Given the description of an element on the screen output the (x, y) to click on. 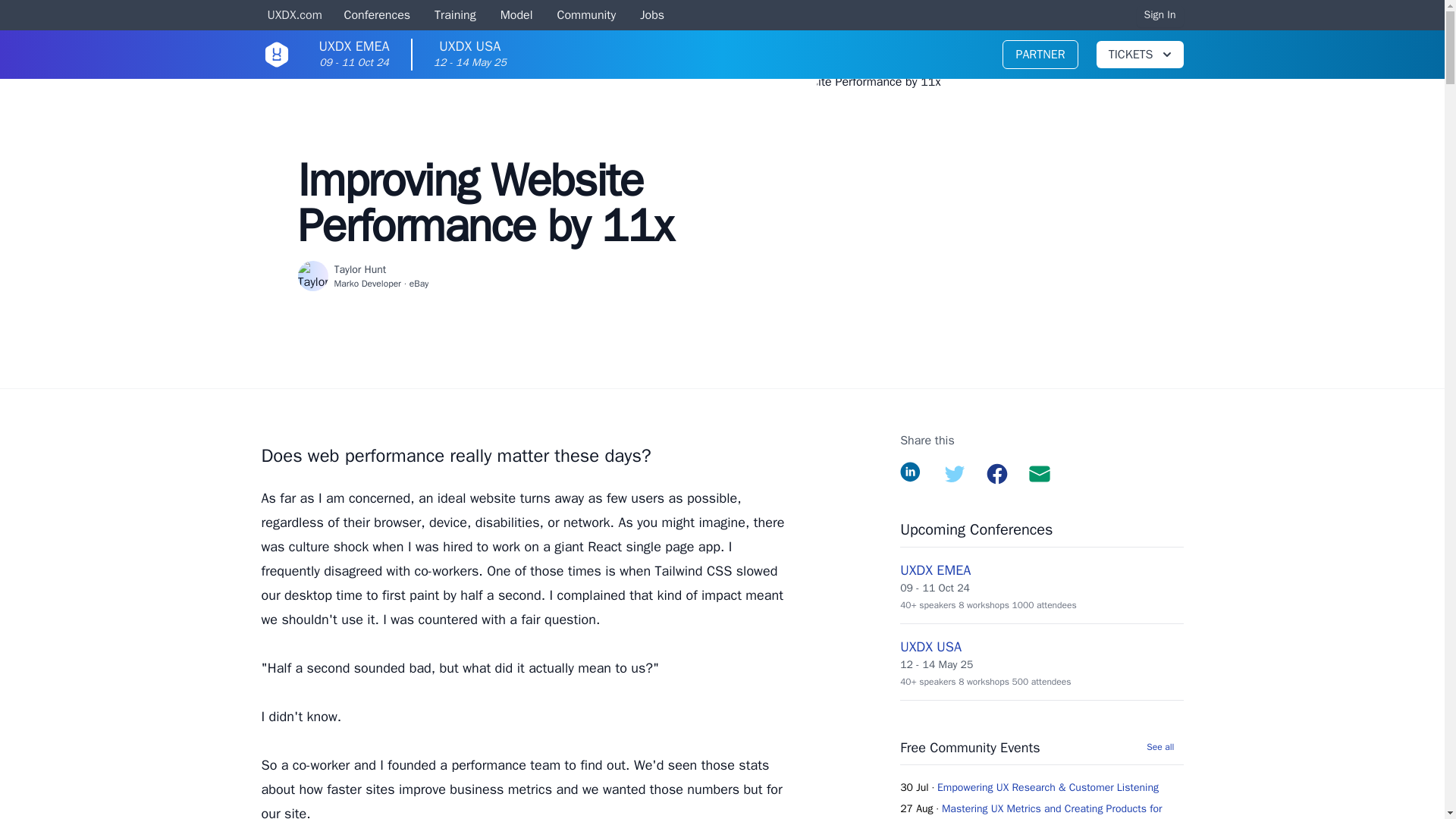
See all (352, 54)
Sign In (1164, 747)
Model (1160, 14)
LinkedIn (516, 16)
Twitter (911, 473)
Training (954, 473)
Facebook (454, 16)
Jobs (997, 473)
Community (651, 16)
UXDX.com (586, 16)
 Conferences (293, 16)
TICKETS (375, 16)
PARTNER (1139, 53)
